Given the description of an element on the screen output the (x, y) to click on. 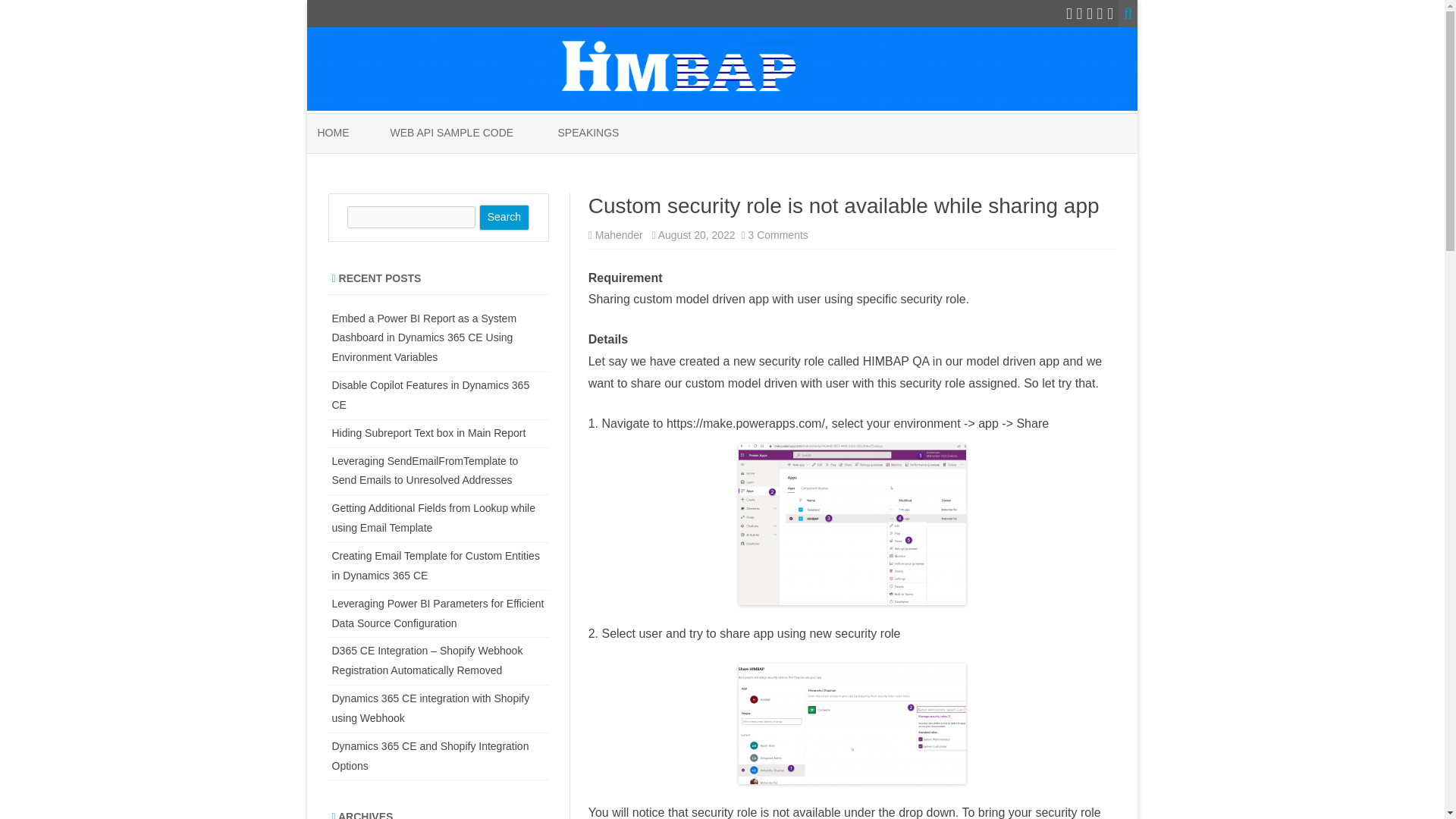
Facebook (1080, 13)
Twitter (1068, 13)
Search (504, 217)
Google Plus (1089, 13)
Mahender (619, 234)
WEB API SAMPLE CODE (451, 133)
RSS (1109, 13)
HOME (333, 133)
LindedIn (1100, 13)
SPEAKINGS (588, 133)
